Given the description of an element on the screen output the (x, y) to click on. 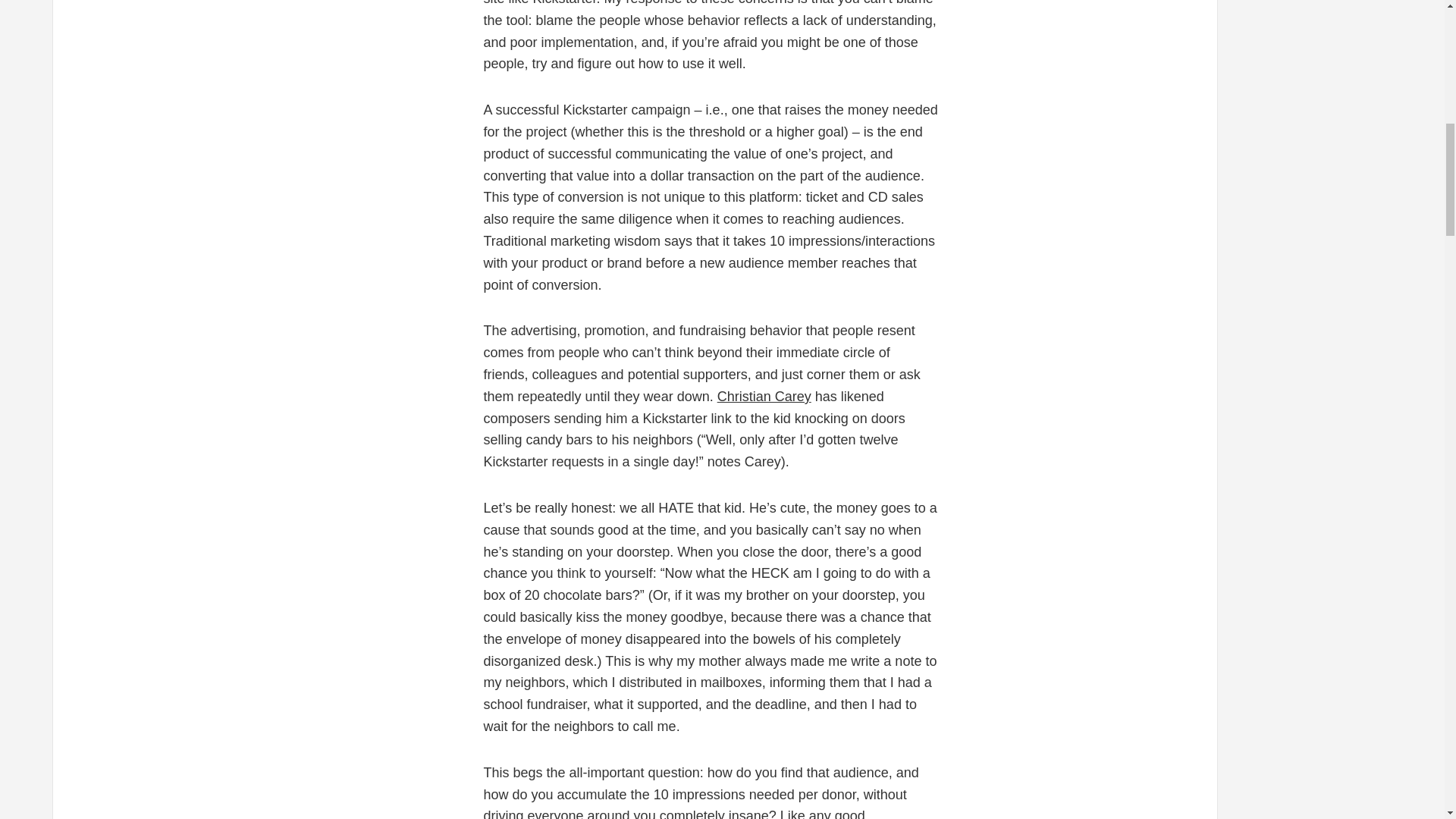
Christian Carey (763, 396)
